Given the description of an element on the screen output the (x, y) to click on. 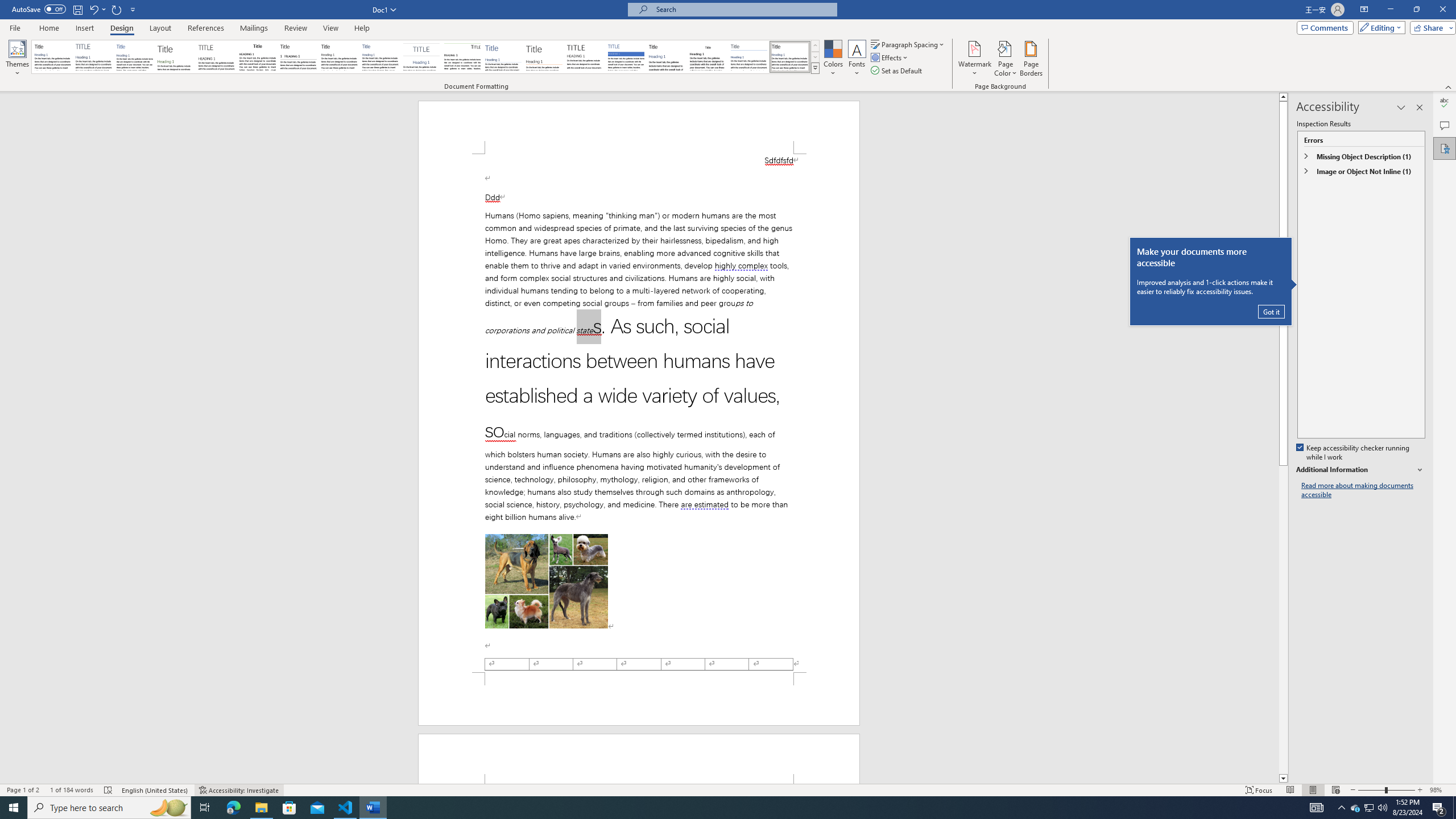
Additional Information (1360, 469)
Effects (890, 56)
Fonts (856, 58)
Insert (83, 28)
AutoSave (38, 9)
Ribbon Display Options (1364, 9)
Row up (814, 45)
Page Borders... (1031, 58)
References (205, 28)
Word (666, 56)
Accessibility (1444, 147)
Style Set (814, 67)
Word 2013 (790, 56)
